Given the description of an element on the screen output the (x, y) to click on. 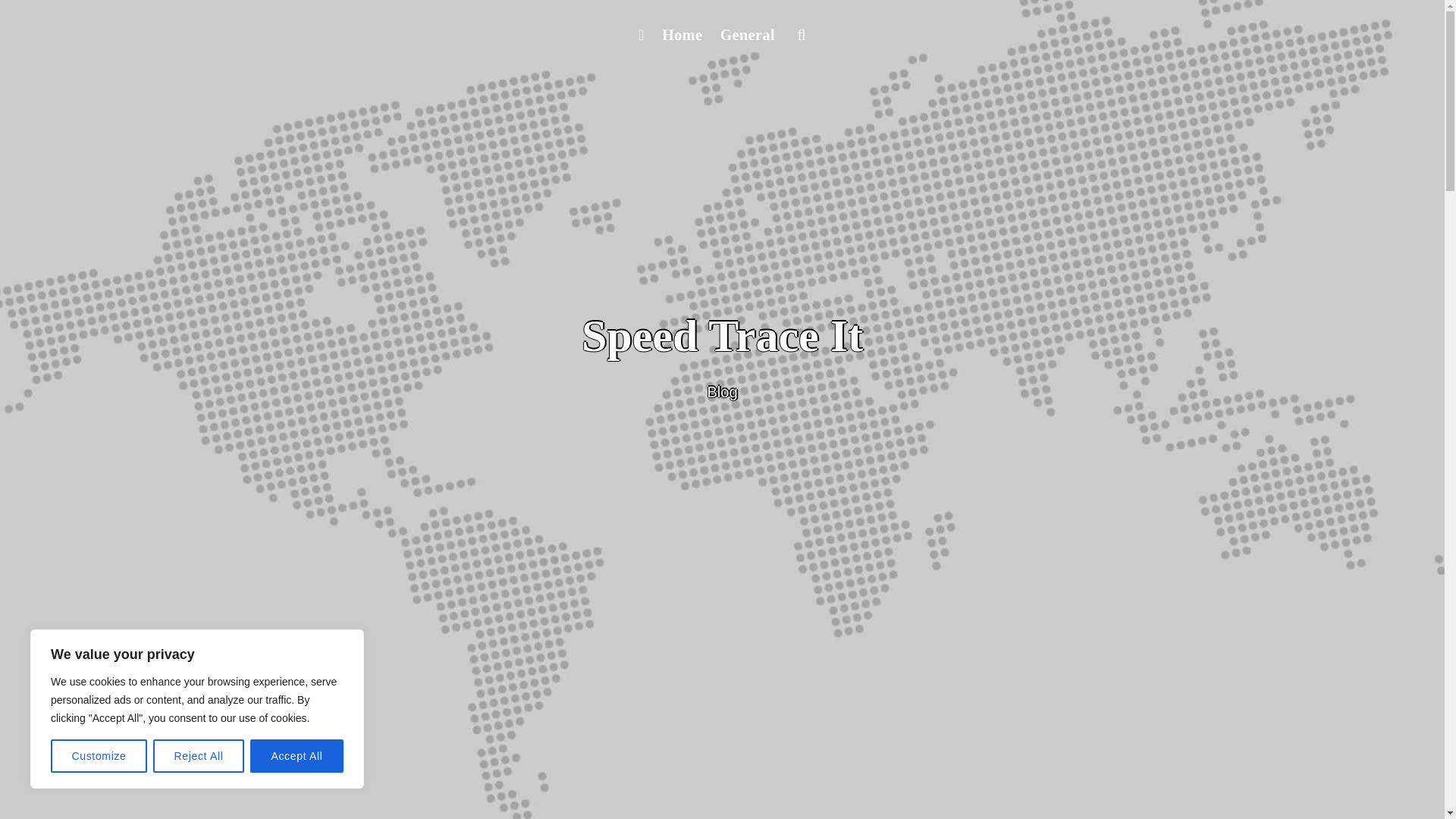
Customize (98, 756)
Reject All (198, 756)
Accept All (296, 756)
Home (681, 35)
General (747, 35)
Speed Trace It (721, 336)
